Given the description of an element on the screen output the (x, y) to click on. 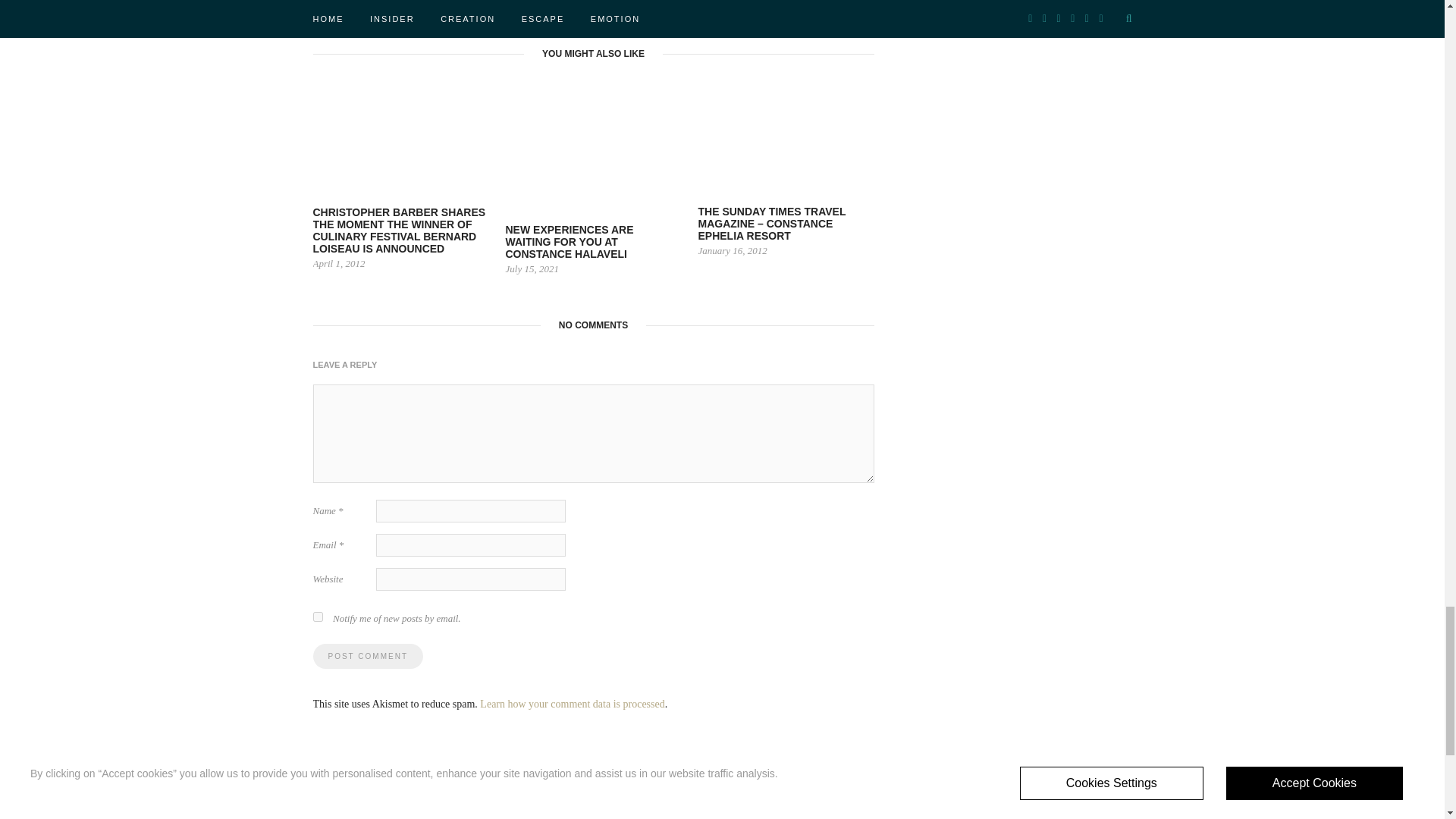
Post Comment (367, 656)
NEW EXPERIENCES ARE WAITING FOR YOU AT CONSTANCE HALAVELI (569, 241)
subscribe (317, 616)
